Given the description of an element on the screen output the (x, y) to click on. 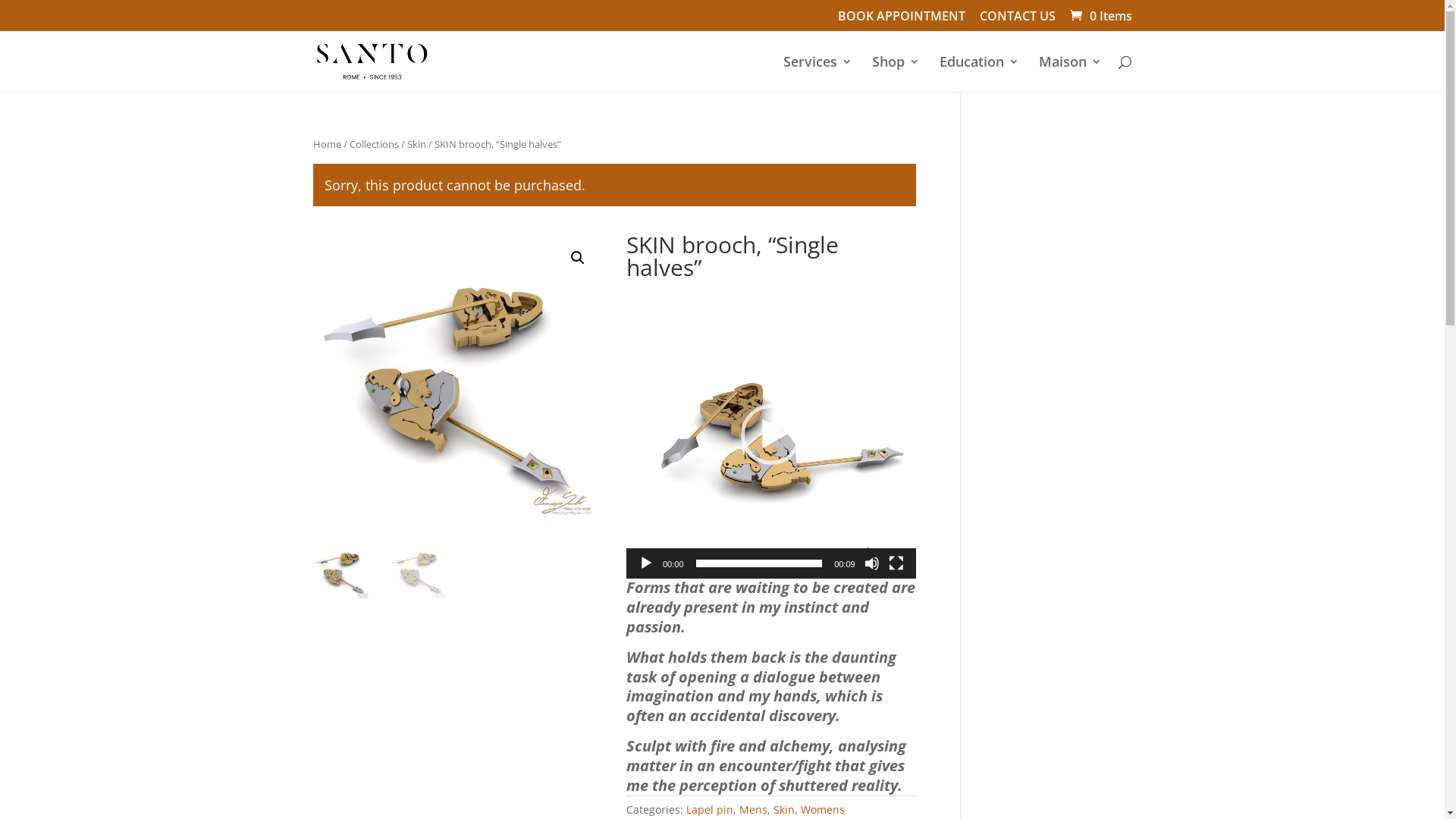
Lapel pin Element type: text (709, 809)
Skin Element type: text (783, 809)
Fullscreen Element type: hover (895, 563)
Services Element type: text (816, 73)
Mens Element type: text (753, 809)
BOOK APPOINTMENT Element type: text (900, 20)
Play Element type: hover (645, 563)
Womens Element type: text (822, 809)
Skin Lapel Pin Element type: hover (457, 378)
CONTACT US Element type: text (1017, 20)
Mute Element type: hover (871, 563)
Shop Element type: text (895, 73)
Skin Element type: text (415, 143)
Maison Element type: text (1069, 73)
Home Element type: text (326, 143)
Collections Element type: text (373, 143)
Education Element type: text (978, 73)
0 Items Element type: text (1098, 15)
